Given the description of an element on the screen output the (x, y) to click on. 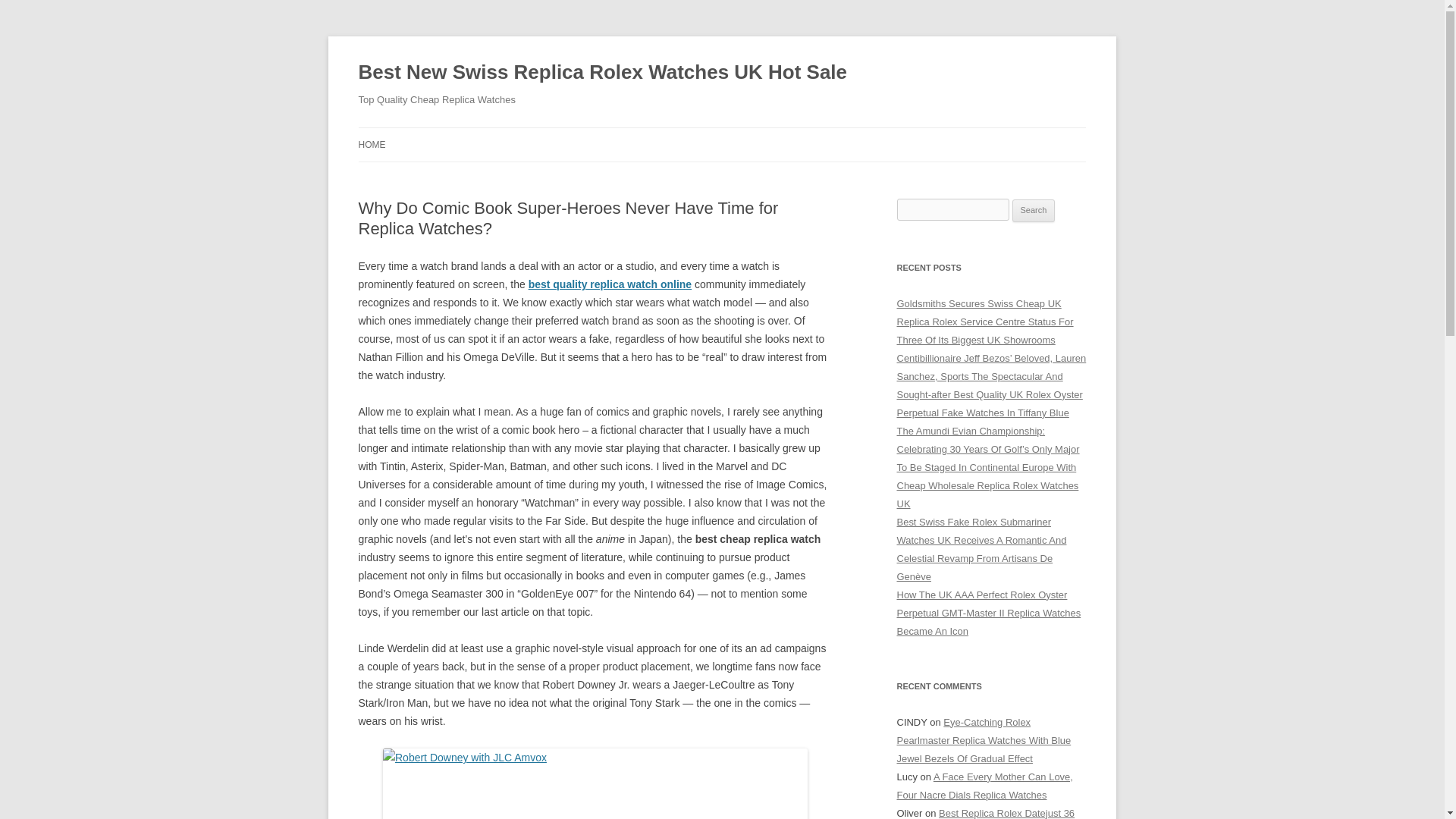
Best Replica Rolex Datejust 36 Watches With Blue Dials (985, 813)
Search (1033, 210)
Best New Swiss Replica Rolex Watches UK Hot Sale (602, 72)
swiss clone watch (594, 783)
Best New Swiss Replica Rolex Watches UK Hot Sale (602, 72)
best quality replica watch online (610, 284)
best quality replica watches (610, 284)
Search (1033, 210)
